Given the description of an element on the screen output the (x, y) to click on. 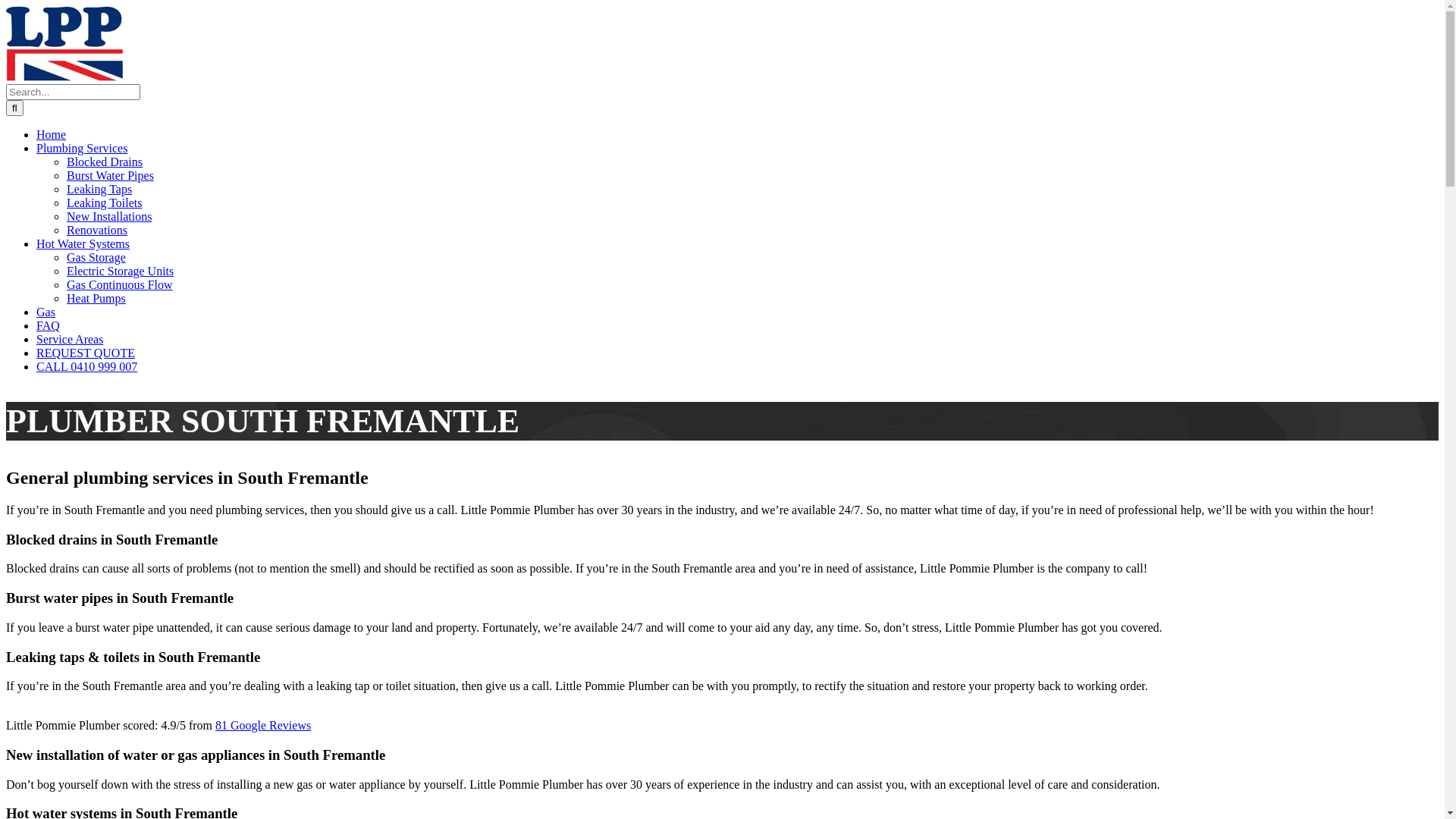
Service Areas Element type: text (69, 338)
81 Google Reviews Element type: text (262, 724)
Gas Element type: text (45, 311)
REQUEST QUOTE Element type: text (85, 352)
Electric Storage Units Element type: text (119, 270)
Blocked Drains Element type: text (104, 161)
Renovations Element type: text (96, 229)
Skip to content Element type: text (5, 5)
Leaking Toilets Element type: text (103, 202)
Heat Pumps Element type: text (95, 297)
FAQ Element type: text (47, 325)
Burst Water Pipes Element type: text (109, 175)
New Installations Element type: text (108, 216)
Leaking Taps Element type: text (98, 188)
Gas Storage Element type: text (95, 257)
Gas Continuous Flow Element type: text (119, 284)
CALL 0410 999 007 Element type: text (86, 366)
Home Element type: text (50, 134)
Plumbing Services Element type: text (81, 147)
Hot Water Systems Element type: text (82, 243)
